Given the description of an element on the screen output the (x, y) to click on. 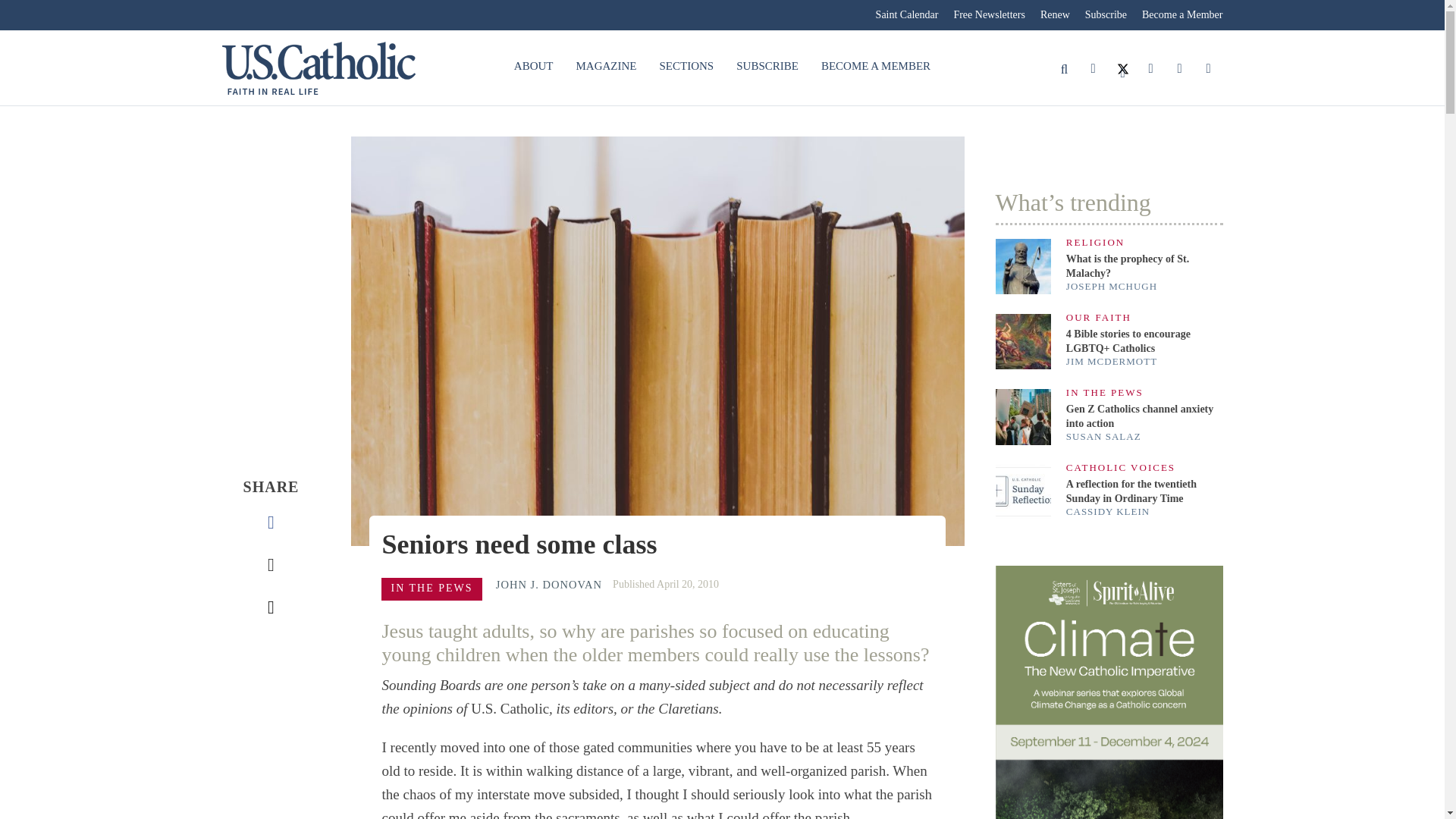
Renew (1054, 15)
Free Newsletters (988, 15)
Saint Calendar (906, 15)
SUBSCRIBE (767, 66)
BECOME A MEMBER (875, 66)
Subscribe (1105, 15)
SECTIONS (686, 66)
ABOUT (533, 66)
Become a Member (1178, 15)
MAGAZINE (605, 66)
